Given the description of an element on the screen output the (x, y) to click on. 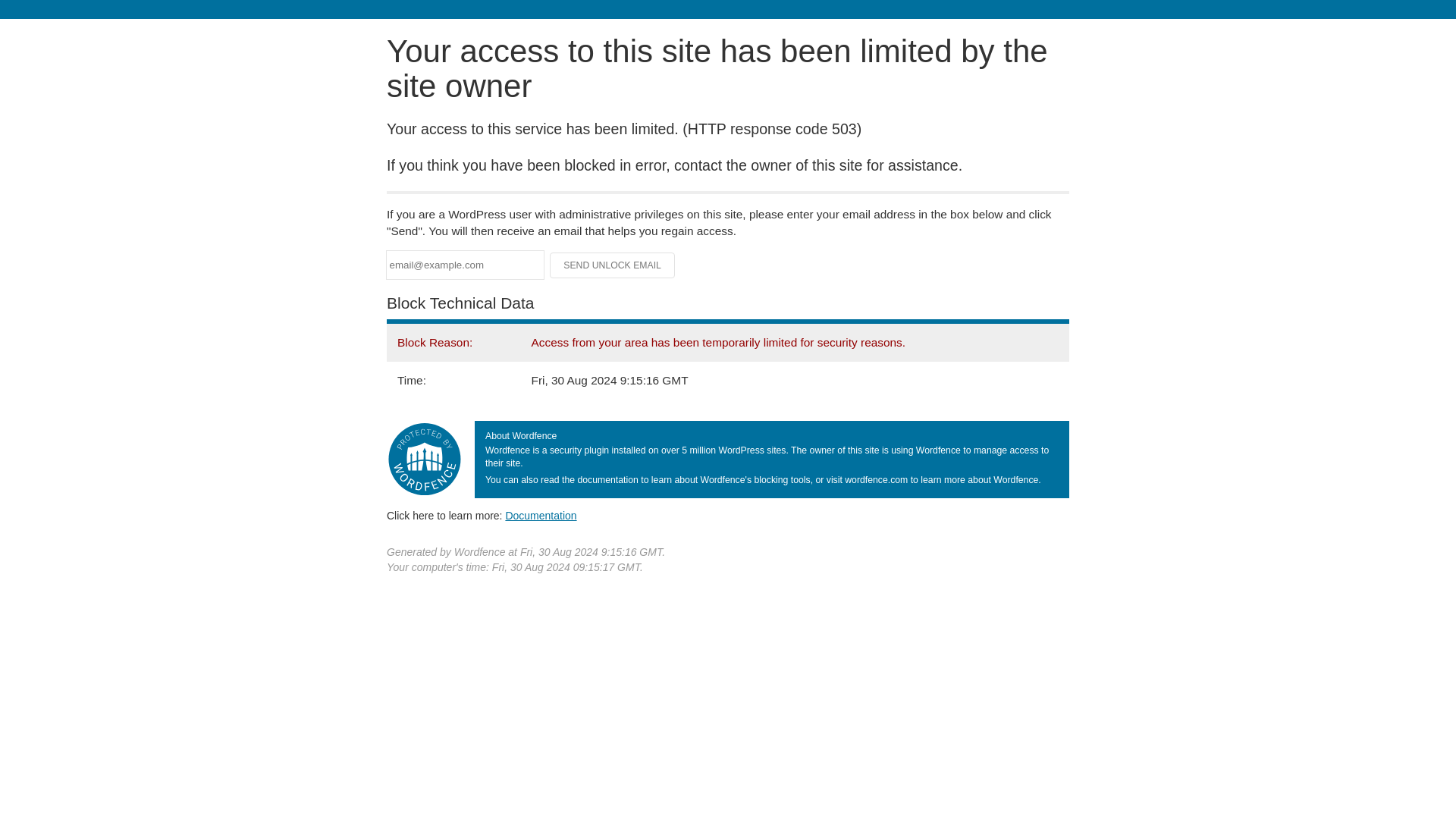
Documentation (540, 515)
Send Unlock Email (612, 265)
Send Unlock Email (612, 265)
